Given the description of an element on the screen output the (x, y) to click on. 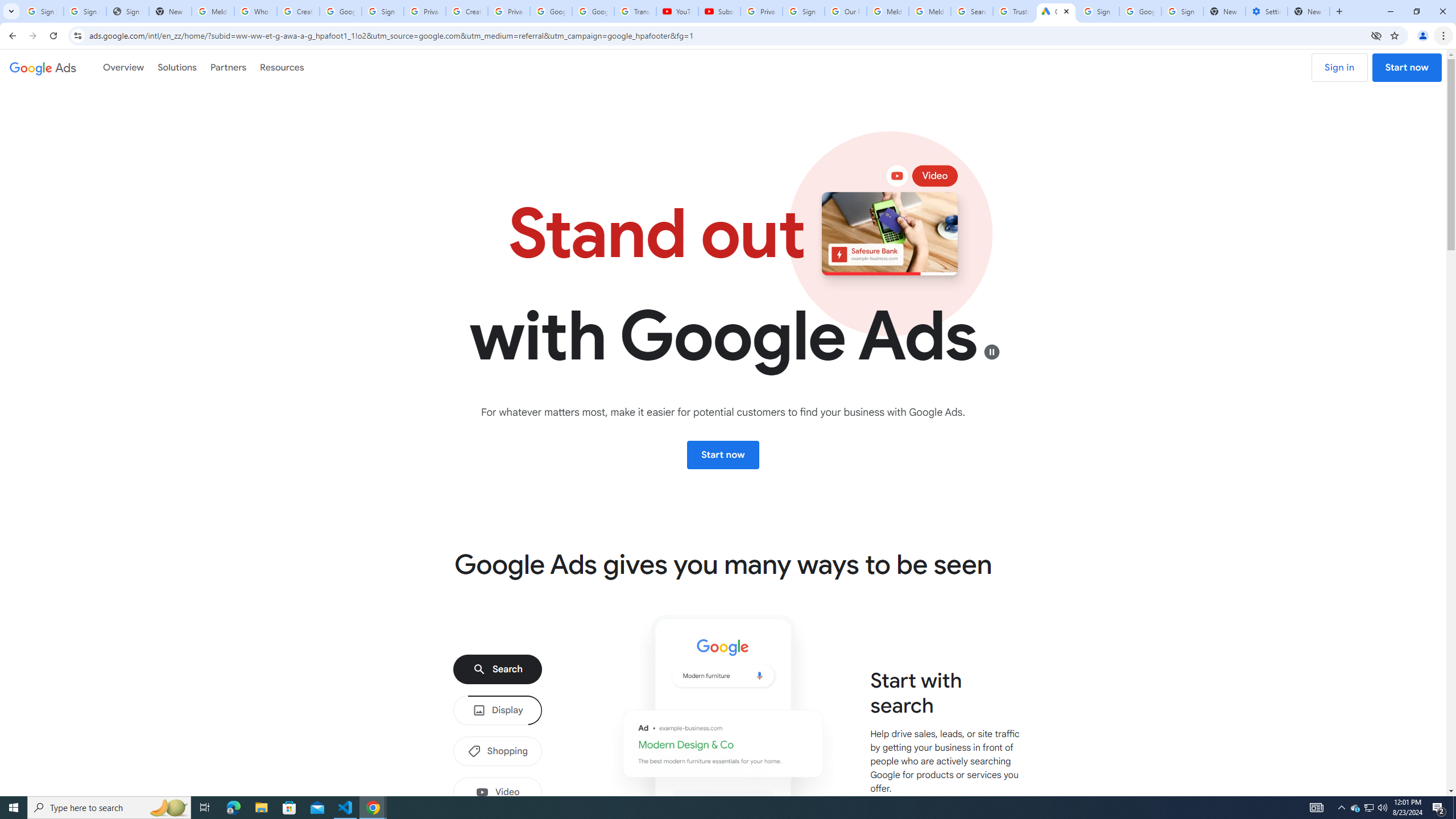
Settings - Addresses and more (1266, 11)
Shopping (497, 750)
Solutions (177, 67)
Sign in - Google Accounts (803, 11)
Create your Google Account (467, 11)
Who is my administrator? - Google Account Help (255, 11)
Video (497, 791)
